Given the description of an element on the screen output the (x, y) to click on. 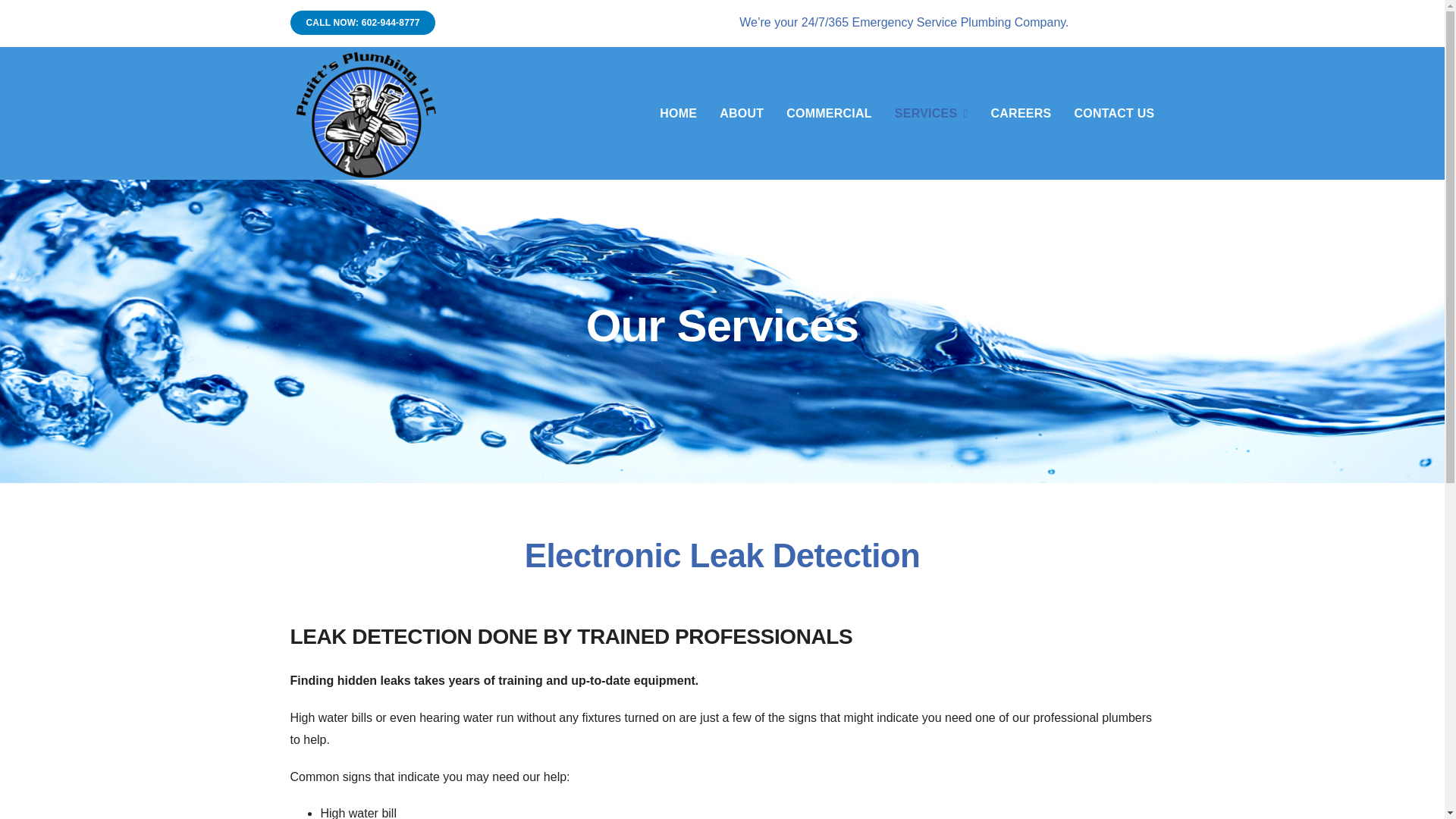
CONTACT US (1114, 113)
Electronic Leak Detection (721, 565)
SERVICES (931, 113)
CAREERS (1020, 113)
ABOUT (740, 113)
CALL NOW: 602-944-8777 (362, 22)
COMMERCIAL (829, 113)
